Given the description of an element on the screen output the (x, y) to click on. 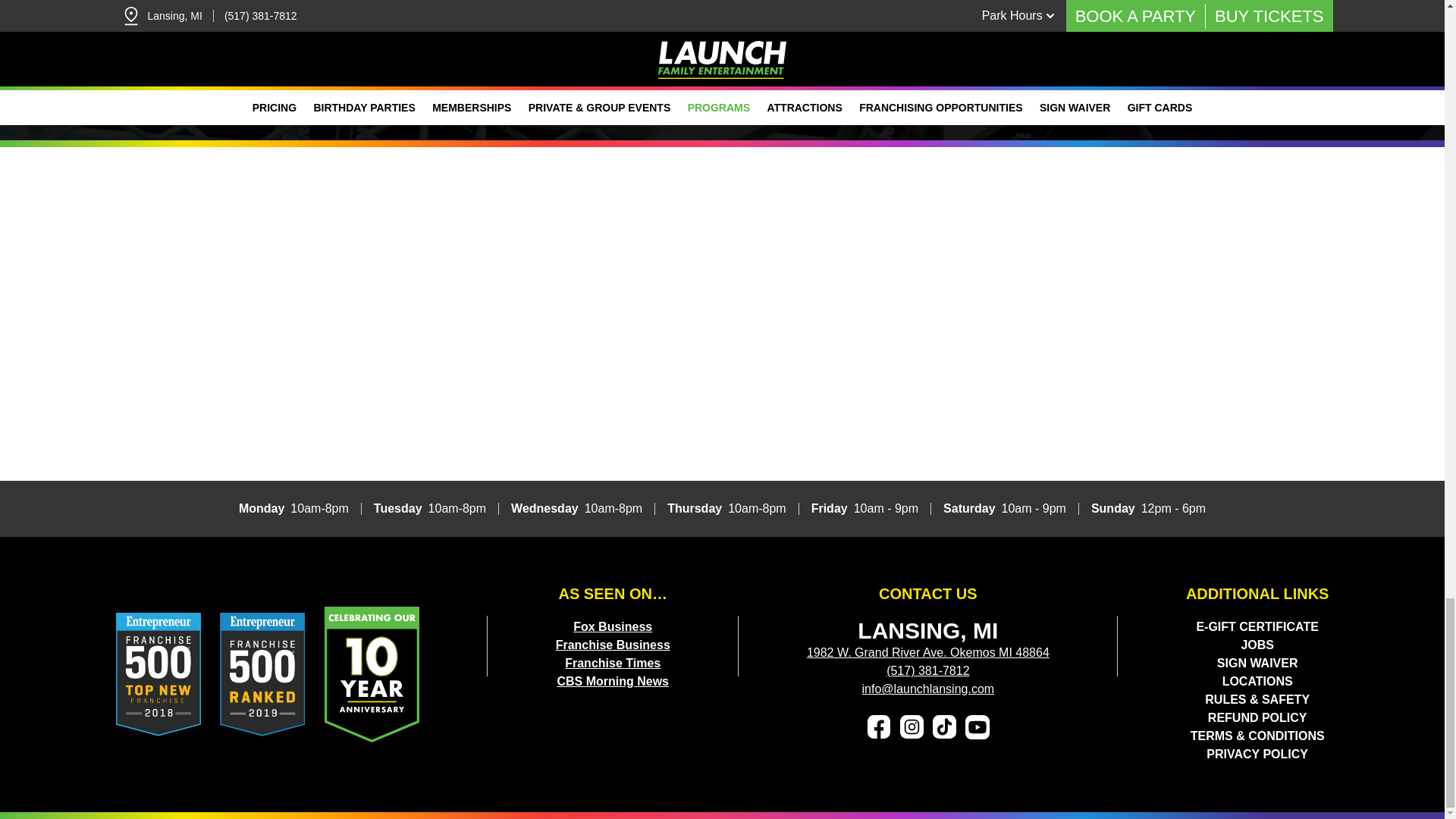
Franchise Times (612, 662)
Franchise Business (612, 644)
Check out all our reviews (721, 13)
Fox Business (612, 626)
